Given the description of an element on the screen output the (x, y) to click on. 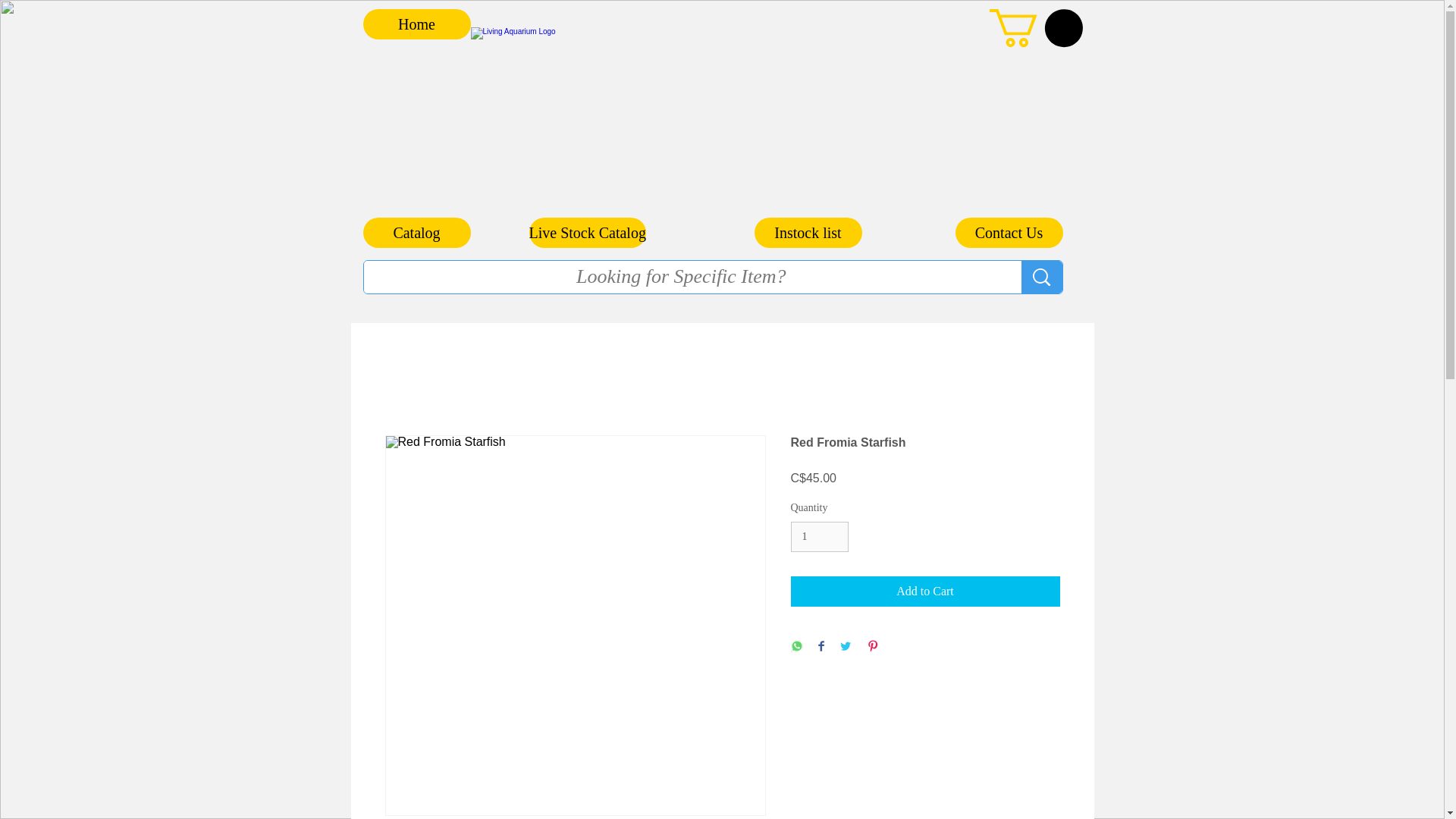
Home (416, 24)
Instock list (807, 232)
Contact Us (1008, 232)
Living Aquarium Logo.jpeg (712, 122)
Add to Cart (924, 591)
Live Stock Catalog (587, 232)
1 (818, 536)
Catalog (416, 232)
